Given the description of an element on the screen output the (x, y) to click on. 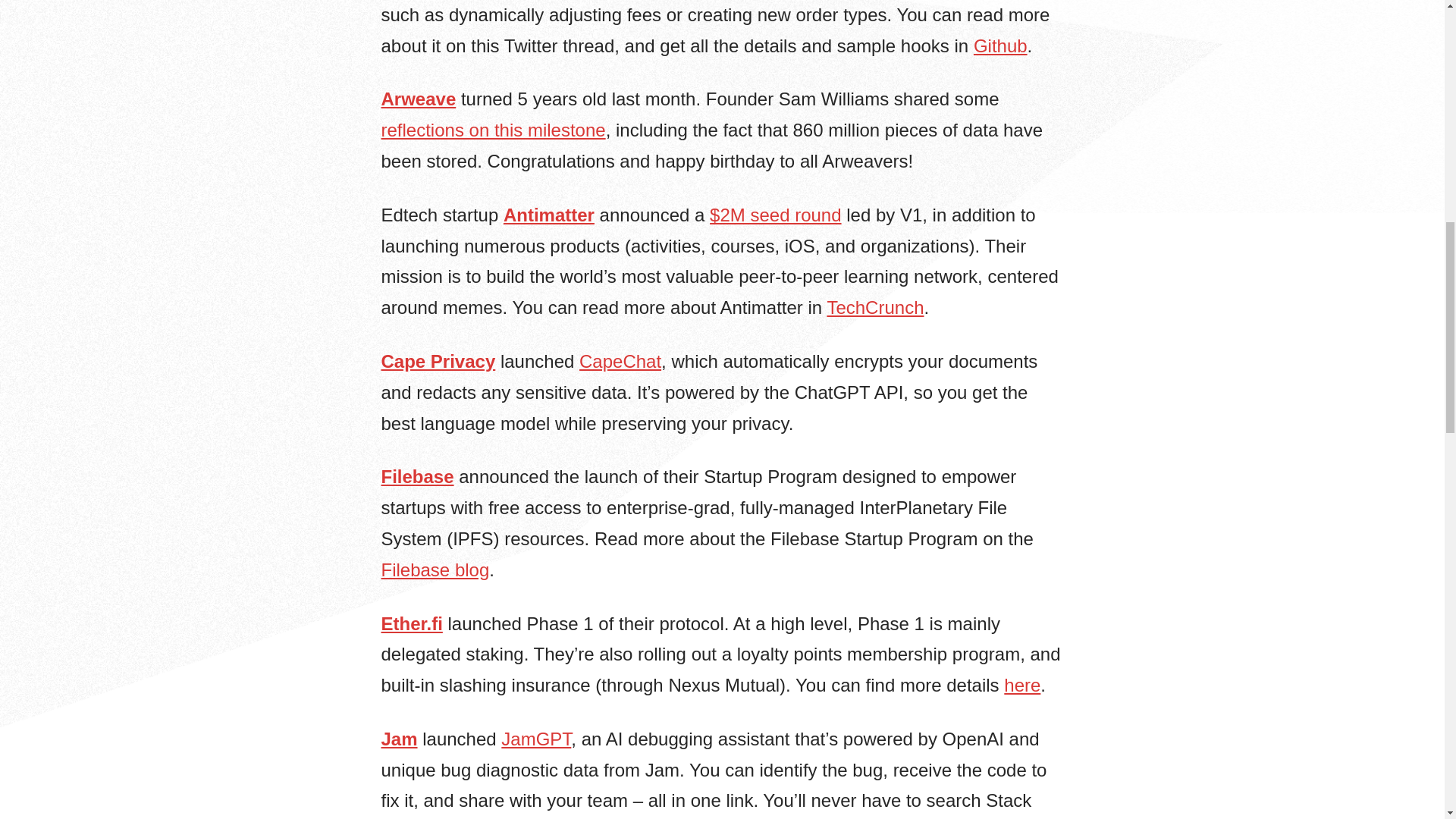
reflections on this milestone (492, 129)
Filebase (416, 476)
Filebase blog (434, 569)
Cape Privacy (437, 361)
CapeChat (620, 361)
Antimatter (548, 214)
Ether.fi (411, 622)
TechCrunch (875, 307)
Jam (398, 738)
Github (1000, 46)
